Given the description of an element on the screen output the (x, y) to click on. 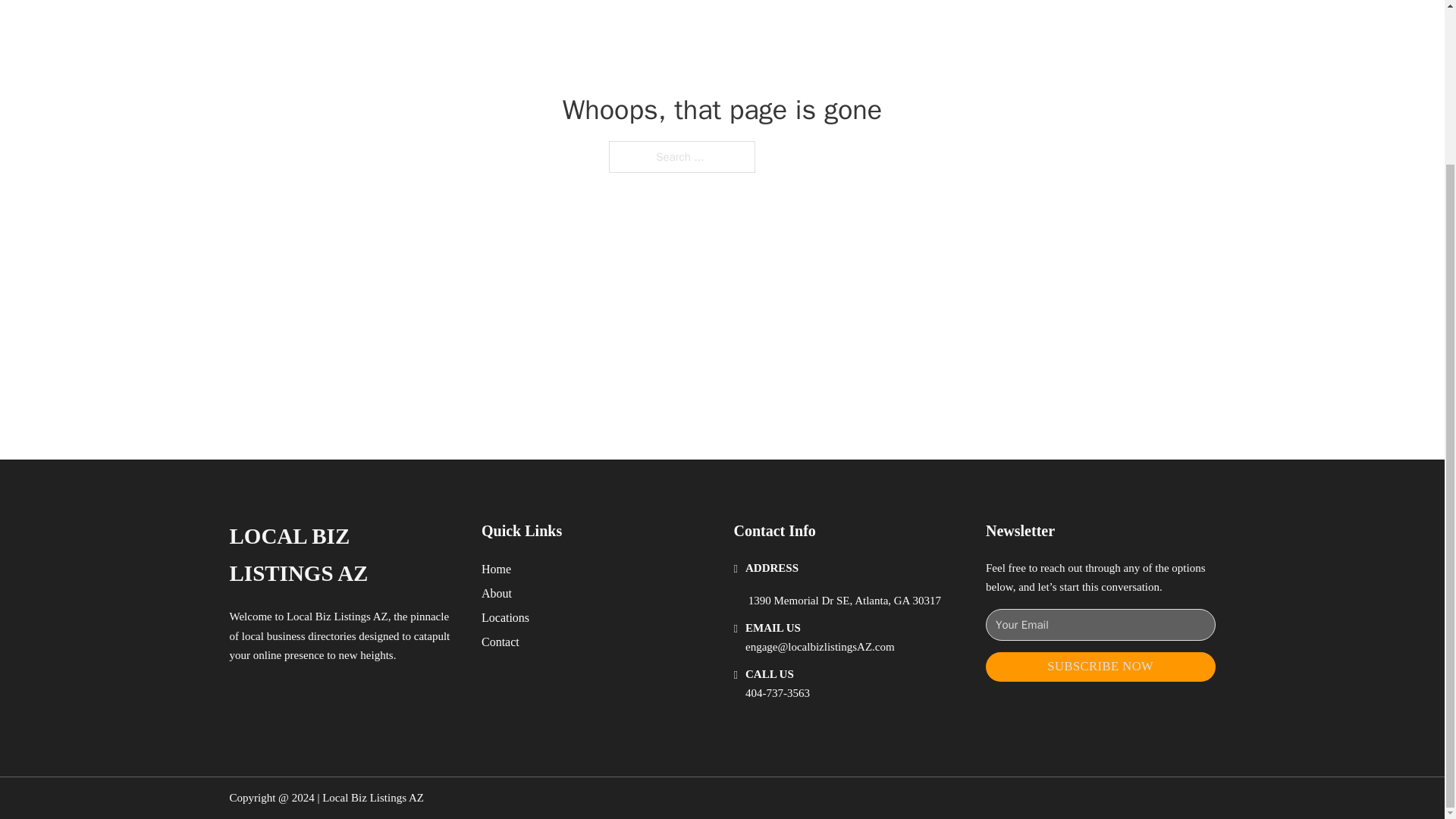
Contact (500, 641)
404-737-3563 (777, 693)
LOCAL BIZ LISTINGS AZ (343, 554)
Home (496, 568)
About (496, 593)
Locations (505, 617)
SUBSCRIBE NOW (1100, 666)
